Given the description of an element on the screen output the (x, y) to click on. 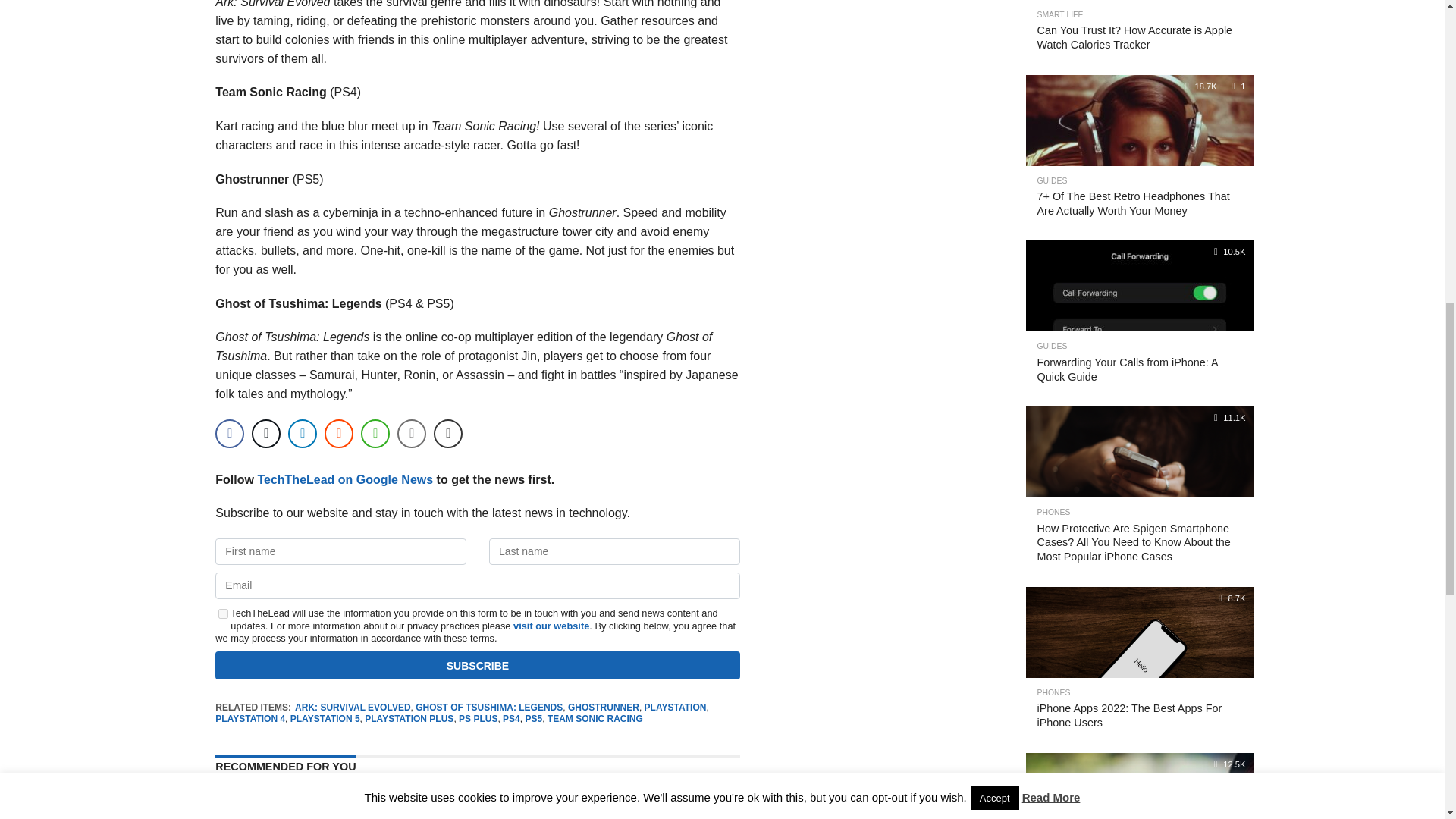
Subscribe (477, 665)
1 (223, 614)
